Given the description of an element on the screen output the (x, y) to click on. 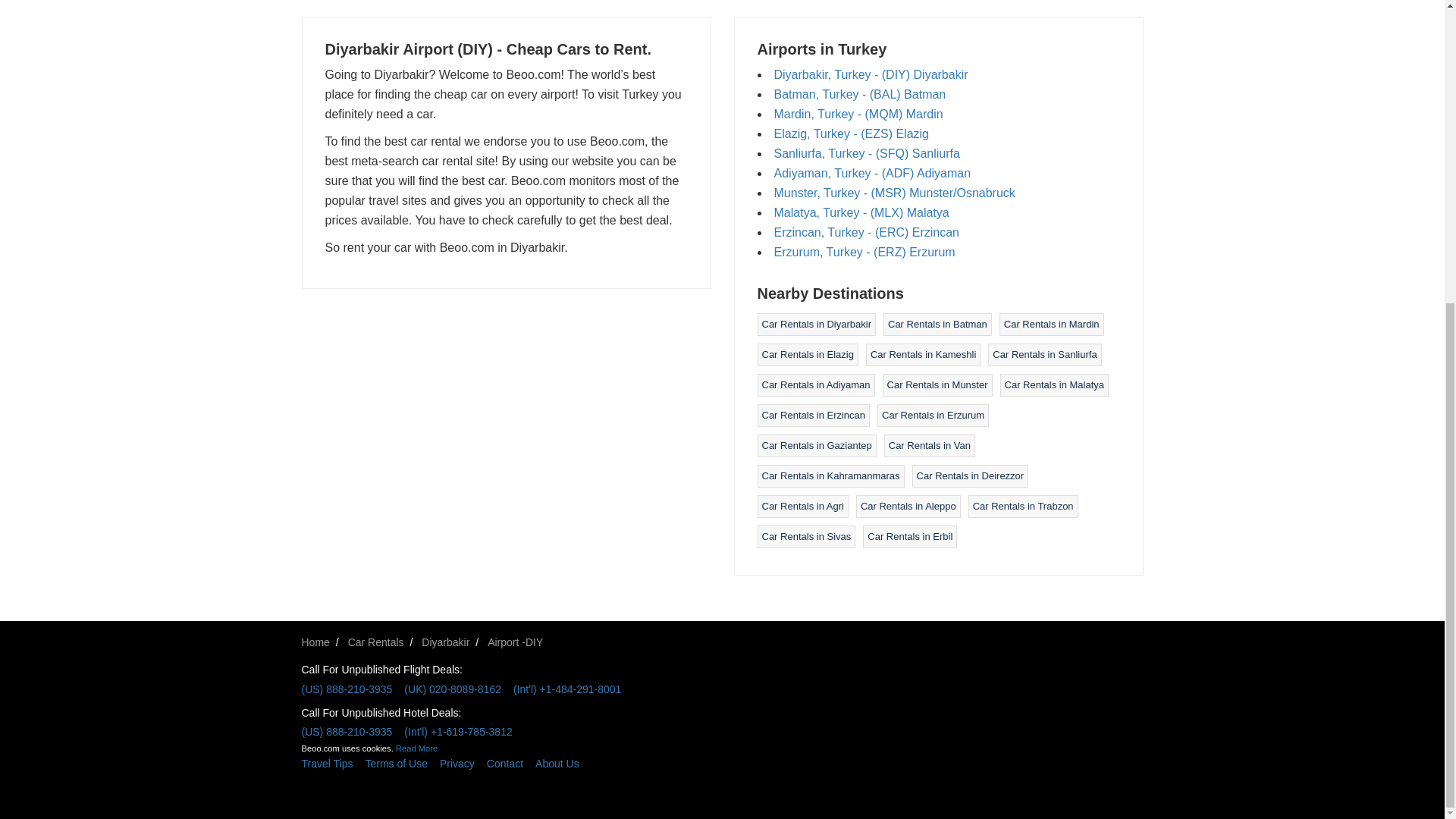
Car Rentals in Van (929, 445)
Car Rentals in Erbil (909, 536)
Car Rentals (375, 642)
Car Rentals in Aleppo (908, 505)
Car Rentals in Kahramanmaras (830, 475)
Car Rentals in Adiyaman (815, 384)
Car Rentals in Deirezzor (971, 475)
Car Rentals in Elazig (807, 354)
Airport -DIY (515, 642)
Car Rentals in Kameshli (922, 354)
